Given the description of an element on the screen output the (x, y) to click on. 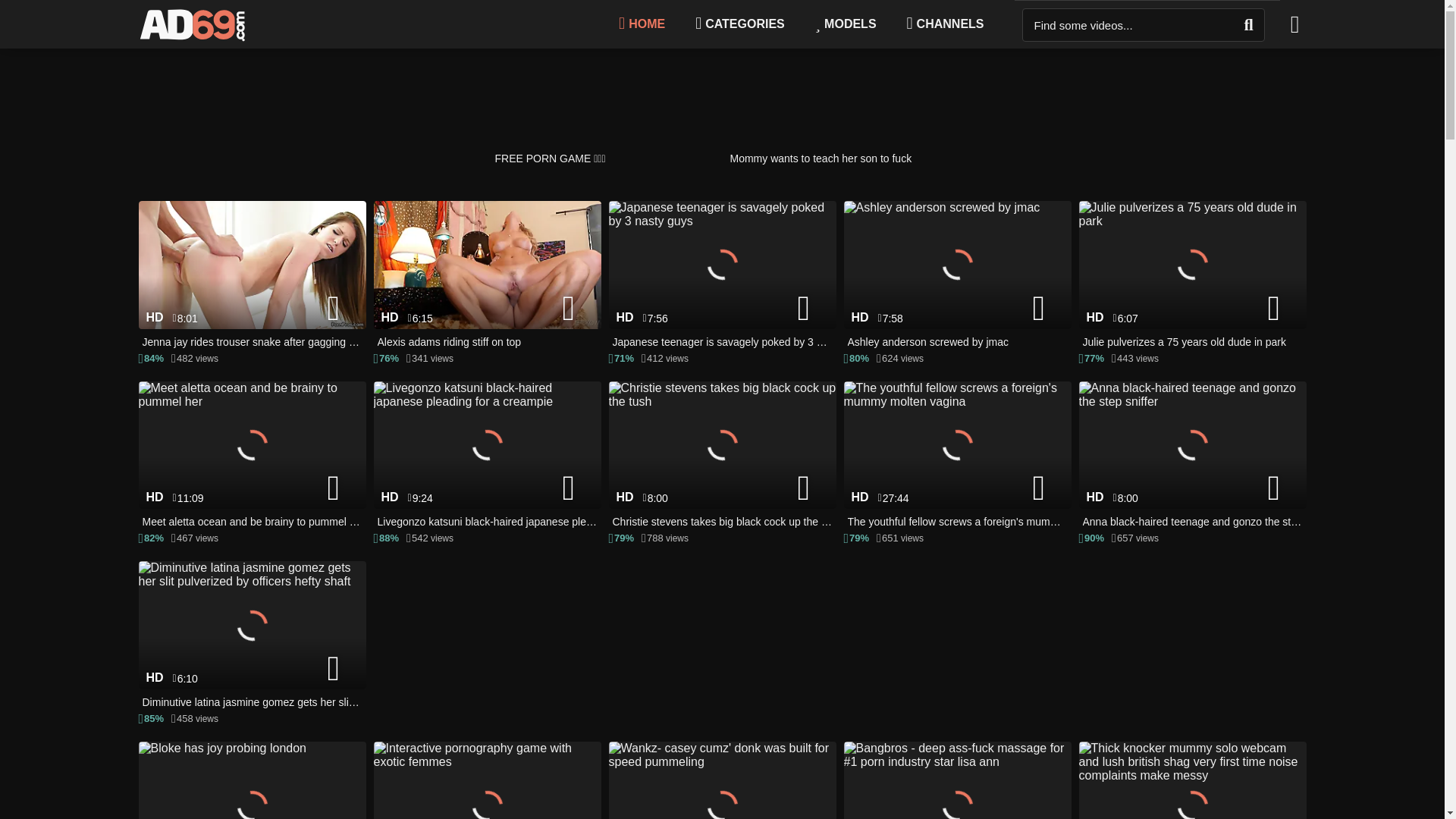
Alexis adams riding stiff on top (485, 275)
Meet aletta ocean and be brainy to pummel her (251, 456)
Julie pulverizes a 75 years old dude in park (1192, 275)
Jenna jay rides trouser snake after gagging on a pink dildo (251, 275)
Wankz- casey cumz' donk was built for speed pummeling (721, 780)
CHANNELS (945, 23)
Bloke has joy probing london (251, 780)
HOME (641, 23)
Ashley anderson screwed by jmac (956, 275)
The youthful fellow screws a foreign's mummy molten vagina (956, 456)
